Given the description of an element on the screen output the (x, y) to click on. 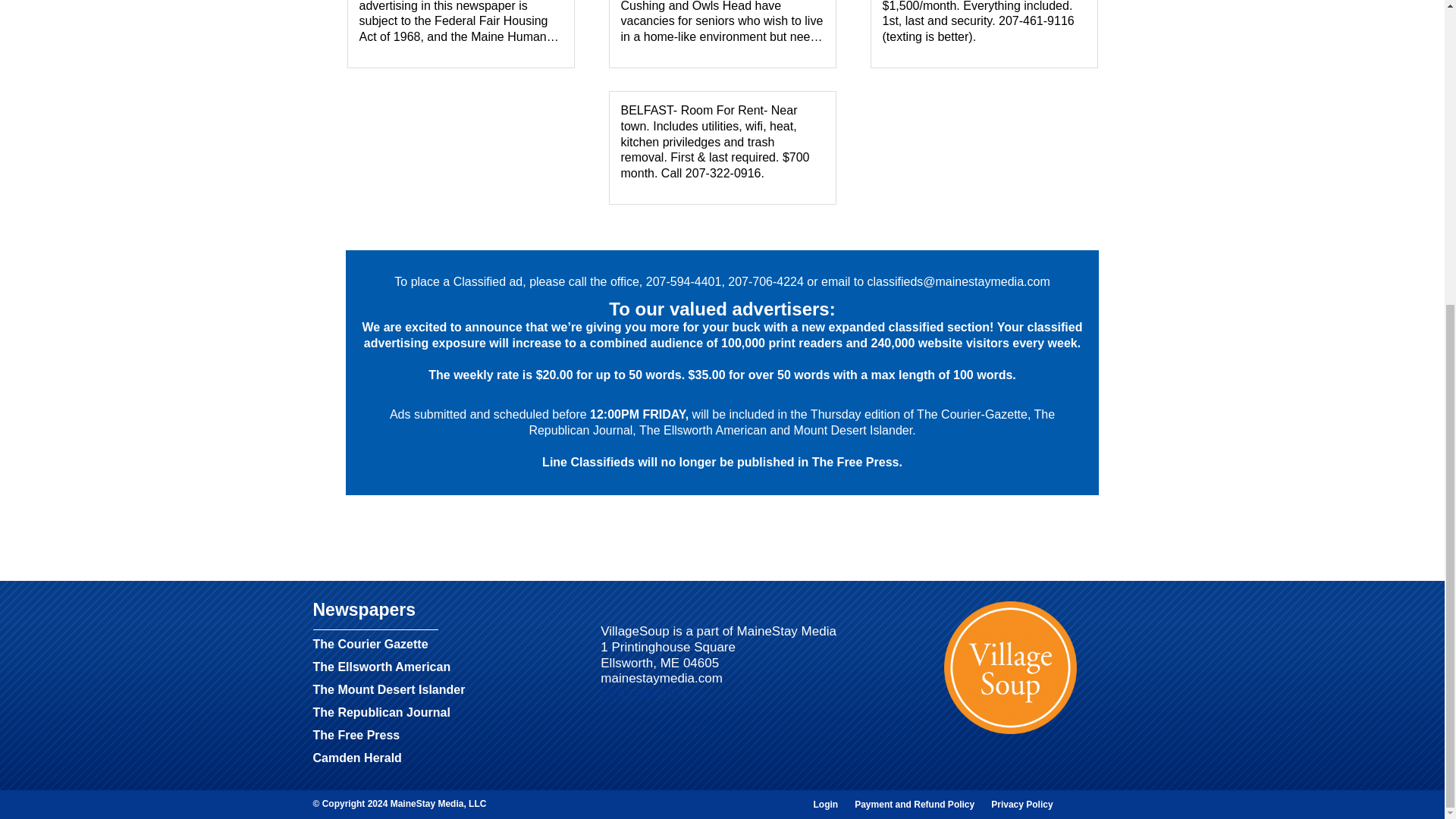
The Courier Gazette (370, 647)
The Ellsworth American (381, 669)
The Free Press (355, 738)
The Mount Desert Islander (388, 692)
Camden Herald (357, 760)
The Republican Journal (381, 715)
Village-Soup-Logo (1010, 667)
